Given the description of an element on the screen output the (x, y) to click on. 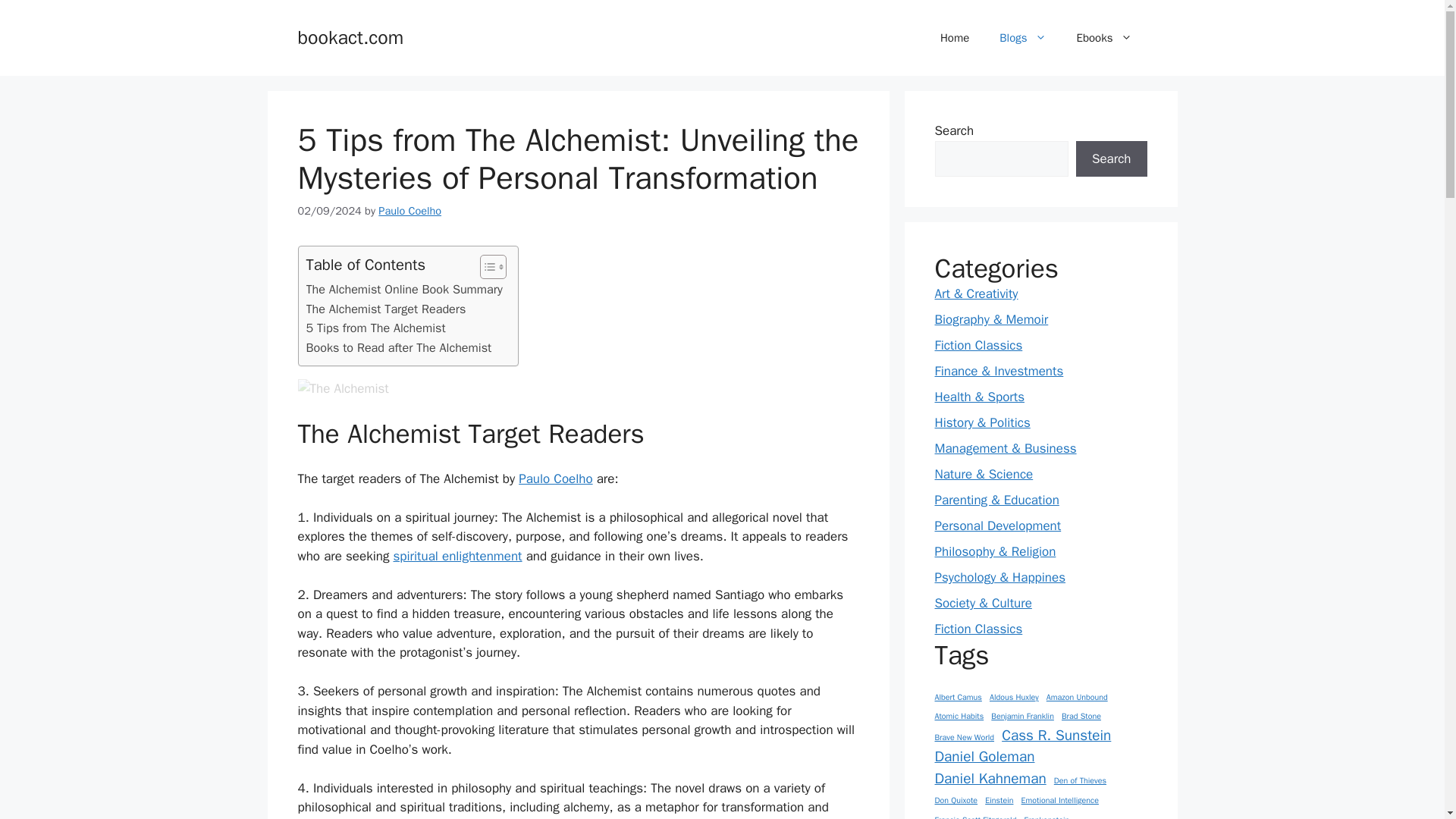
Books to Read after The Alchemist (398, 347)
bookact.com (350, 37)
Paulo Coelho (555, 478)
The Alchemist (342, 388)
The Alchemist Online Book Summary (403, 289)
spiritual enlightenment (457, 555)
Home (954, 37)
5 Tips from The Alchemist (375, 328)
View all posts by Paulo Coelho (409, 210)
The Alchemist Target Readers (385, 309)
Blogs (1022, 37)
